Given the description of an element on the screen output the (x, y) to click on. 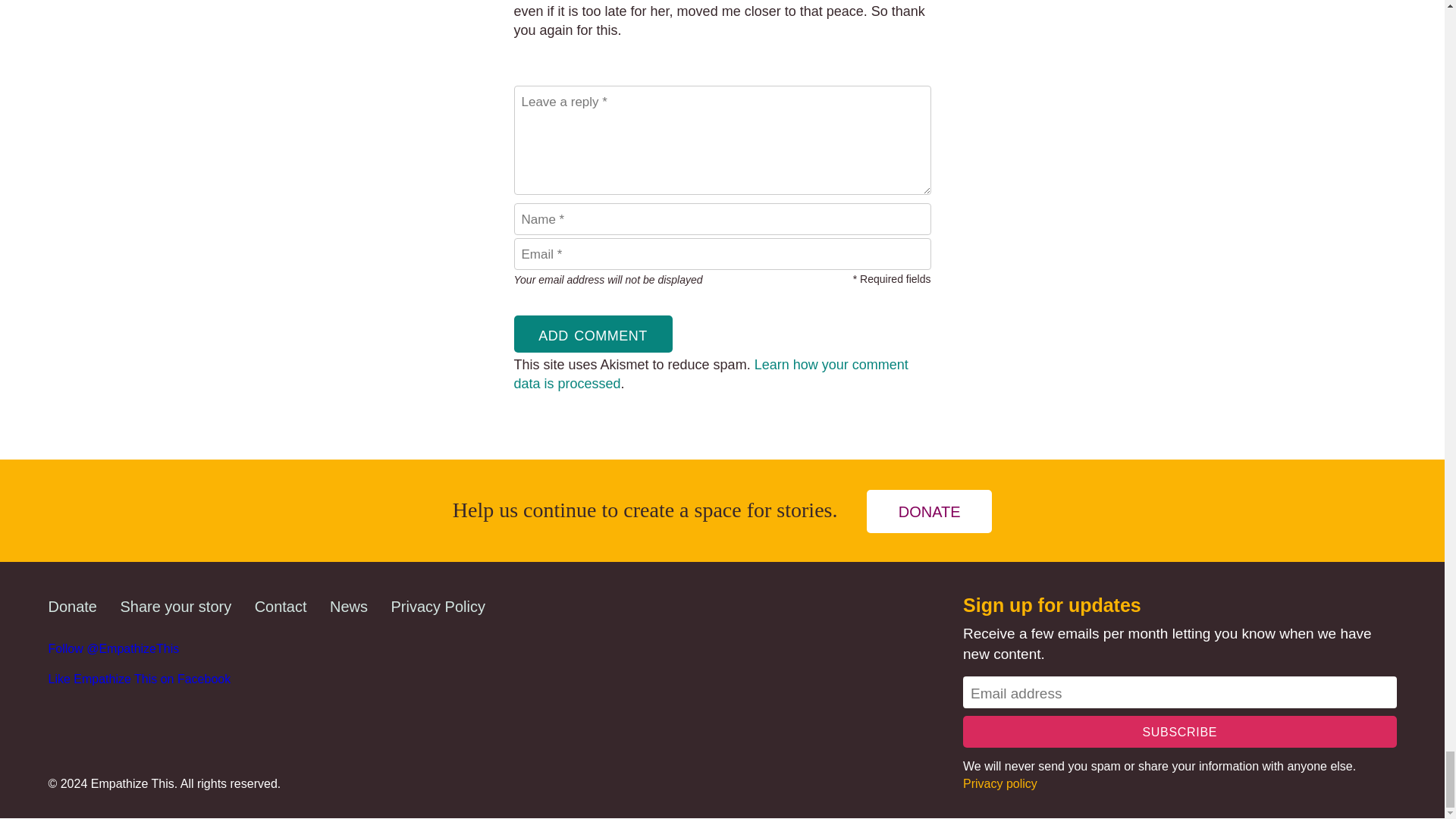
Subscribe (1179, 731)
Add comment (592, 333)
